Given the description of an element on the screen output the (x, y) to click on. 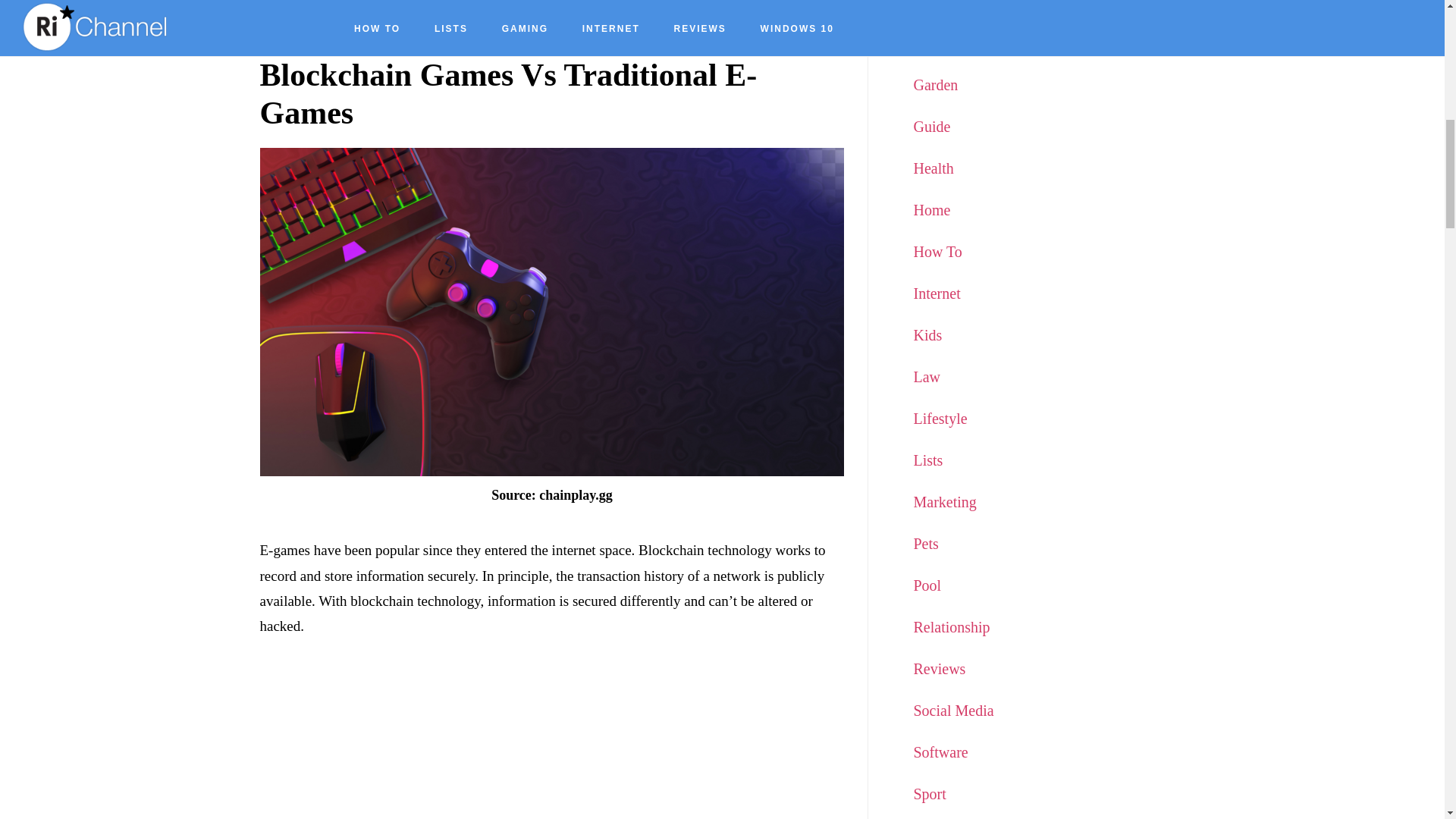
here (426, 19)
